Given the description of an element on the screen output the (x, y) to click on. 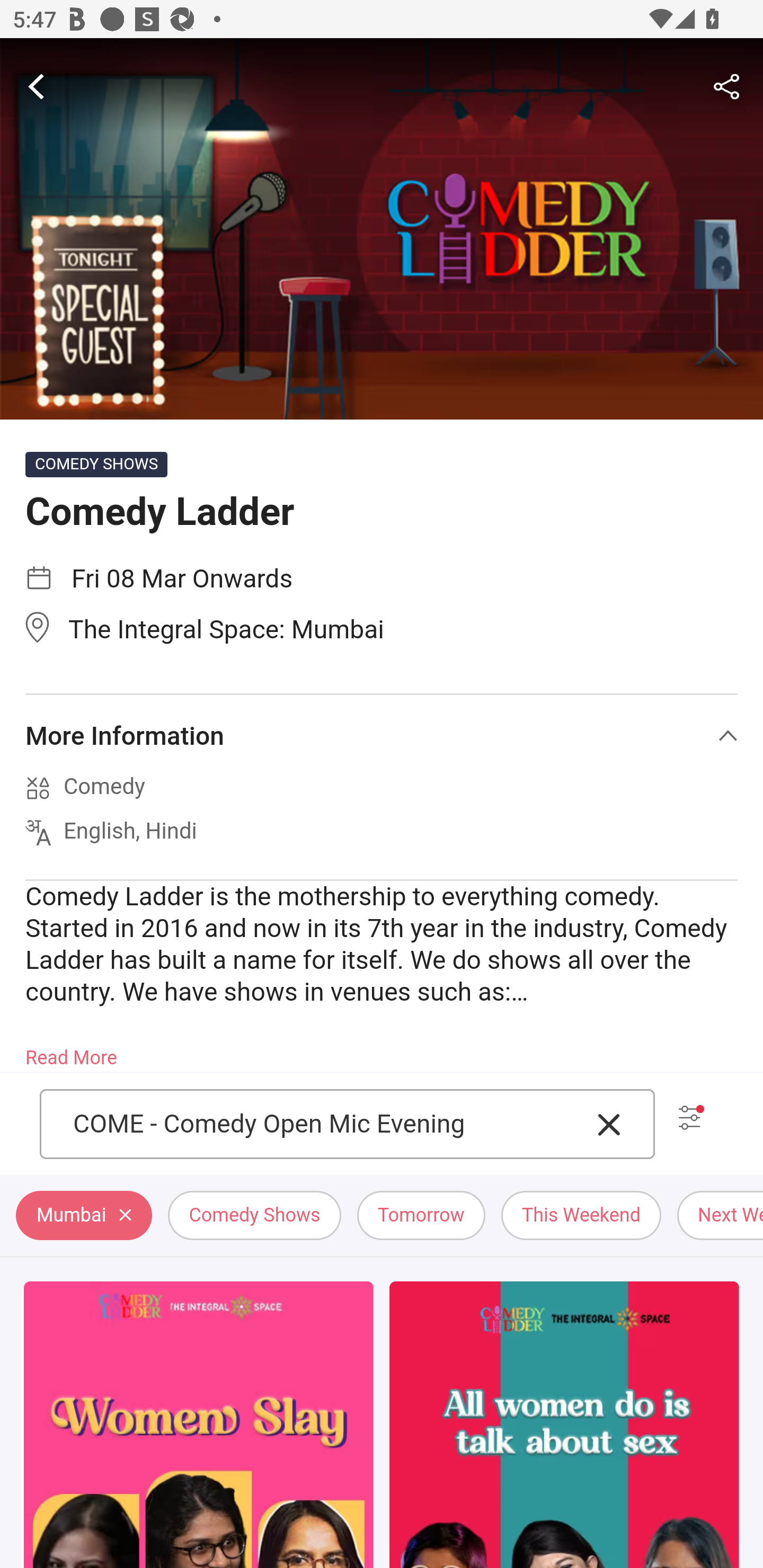
More Information (381, 735)
Read More (71, 1051)
COME - Comedy Open Mic Evening (327, 1124)
Mumbai (84, 1215)
Comedy Shows (254, 1215)
Tomorrow (421, 1215)
This Weekend (581, 1215)
